Given the description of an element on the screen output the (x, y) to click on. 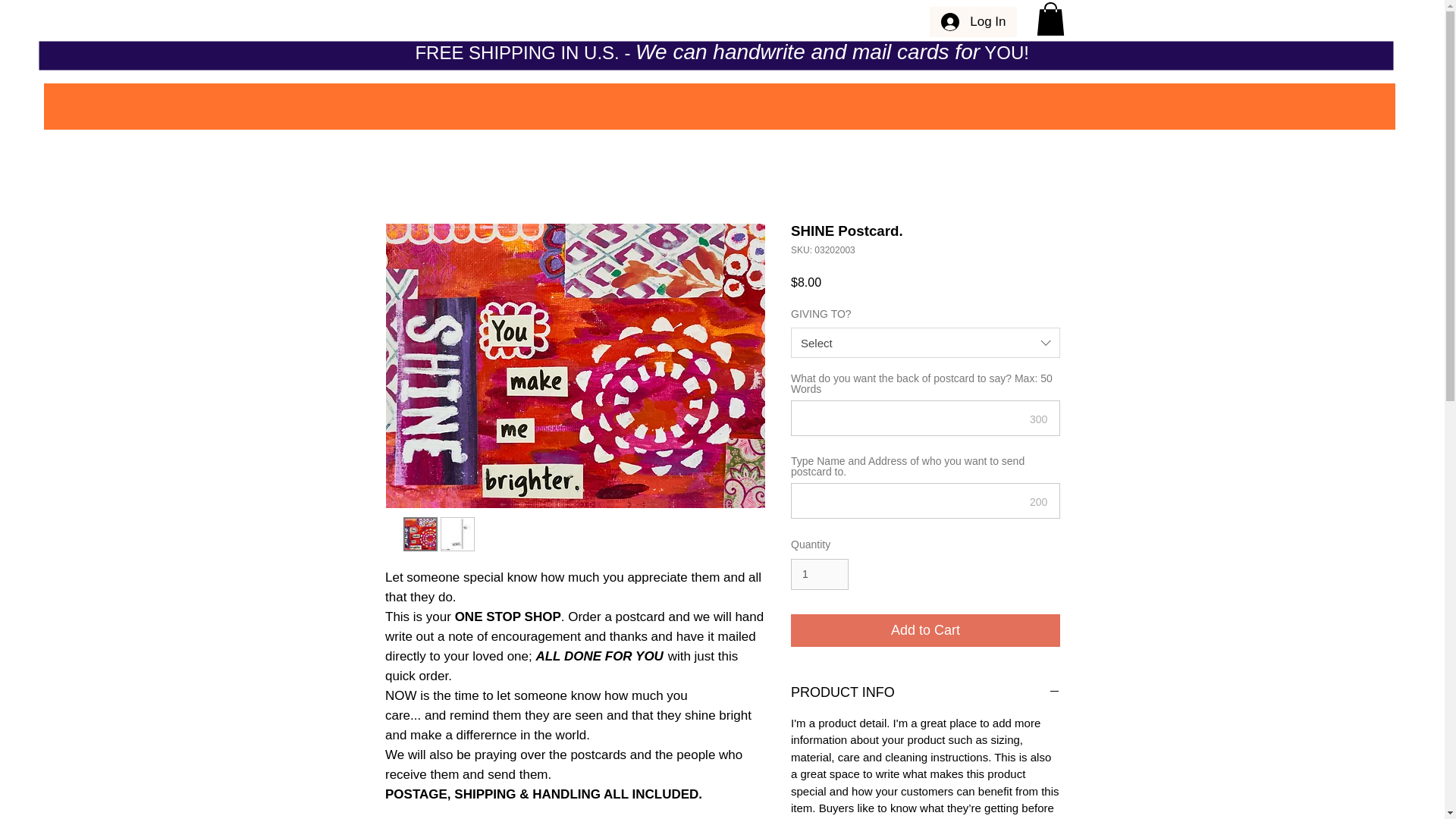
Log In (973, 22)
Select (924, 342)
PRODUCT INFO (924, 692)
Add to Cart (924, 630)
1 (819, 573)
